Given the description of an element on the screen output the (x, y) to click on. 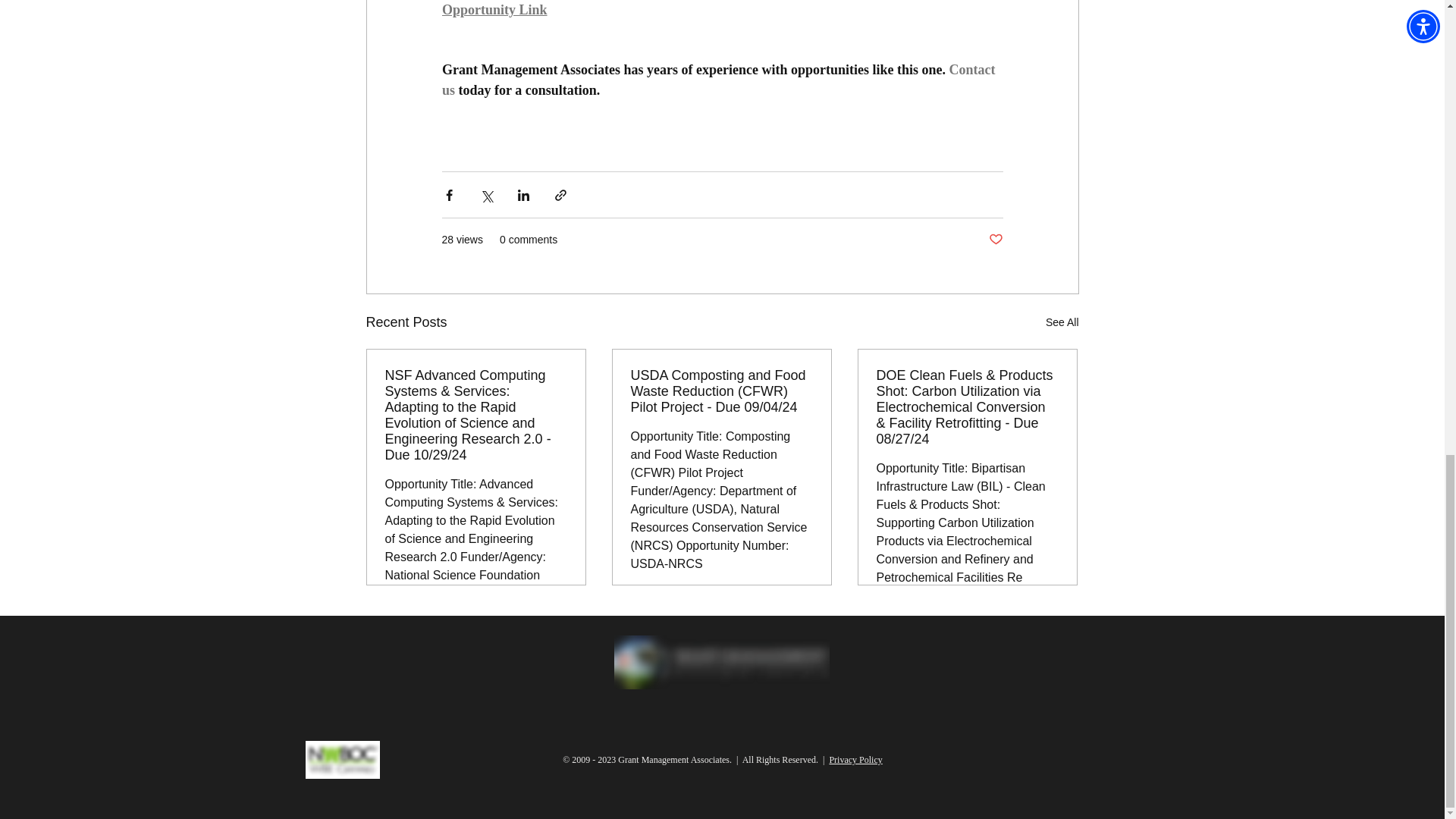
See All (1061, 322)
Opportunity Link (494, 9)
Contact us (719, 79)
Post not marked as liked (995, 239)
